Given the description of an element on the screen output the (x, y) to click on. 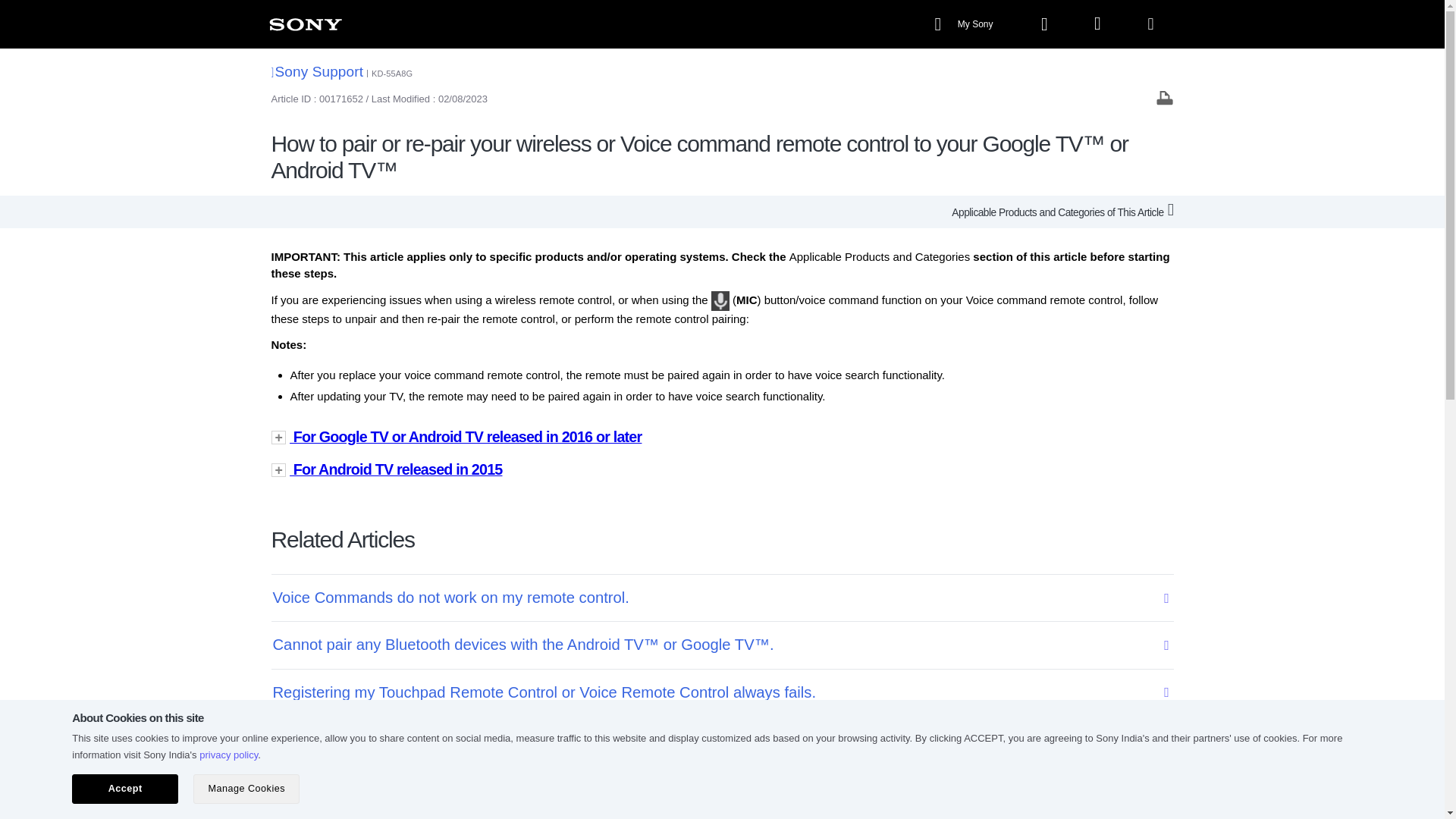
Print (1164, 97)
My Sony (964, 24)
expand (721, 469)
Contact Us (710, 799)
expand (721, 436)
